Given the description of an element on the screen output the (x, y) to click on. 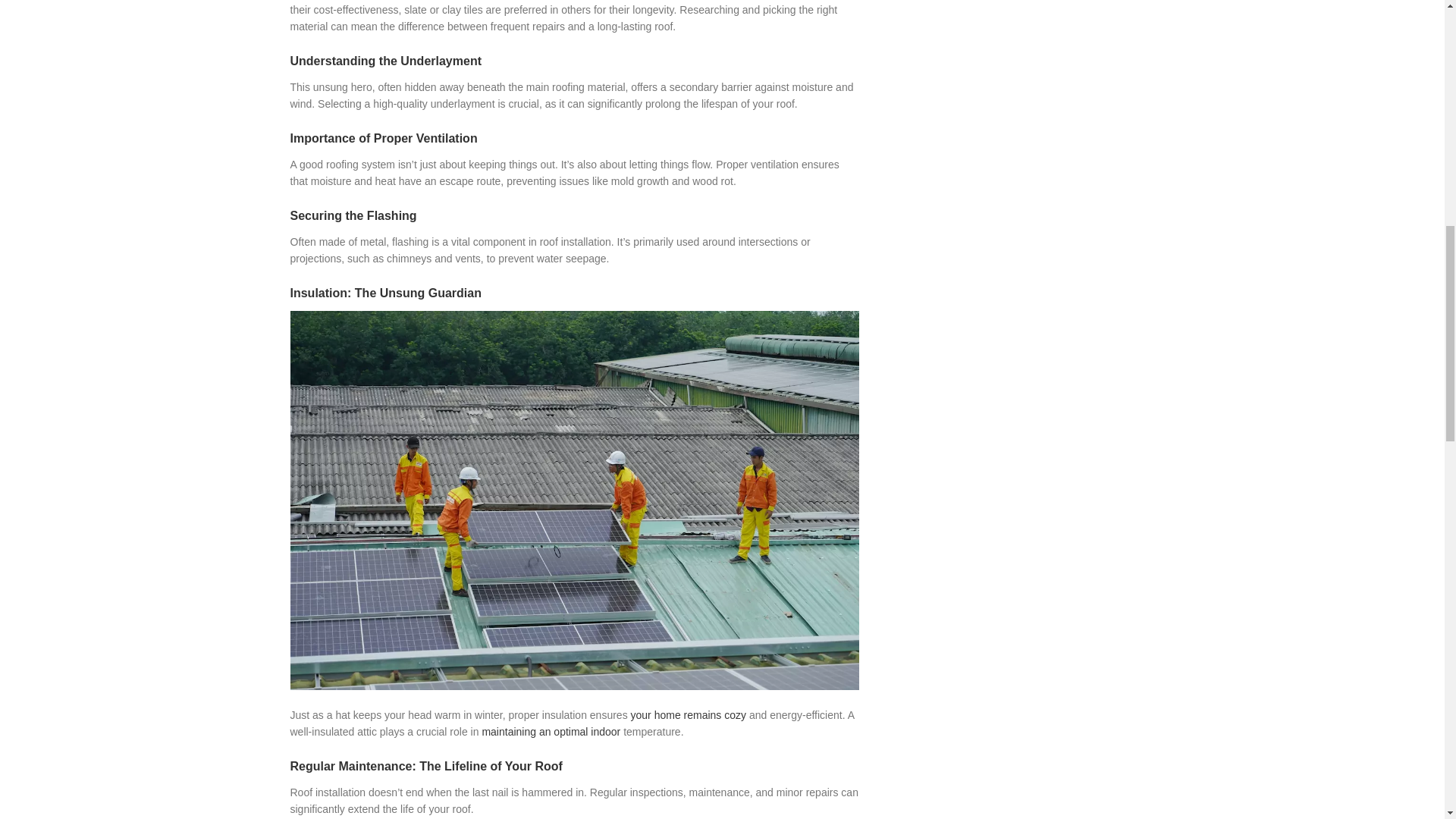
maintaining an optimal indoor (550, 731)
your home remains cozy (688, 715)
